Given the description of an element on the screen output the (x, y) to click on. 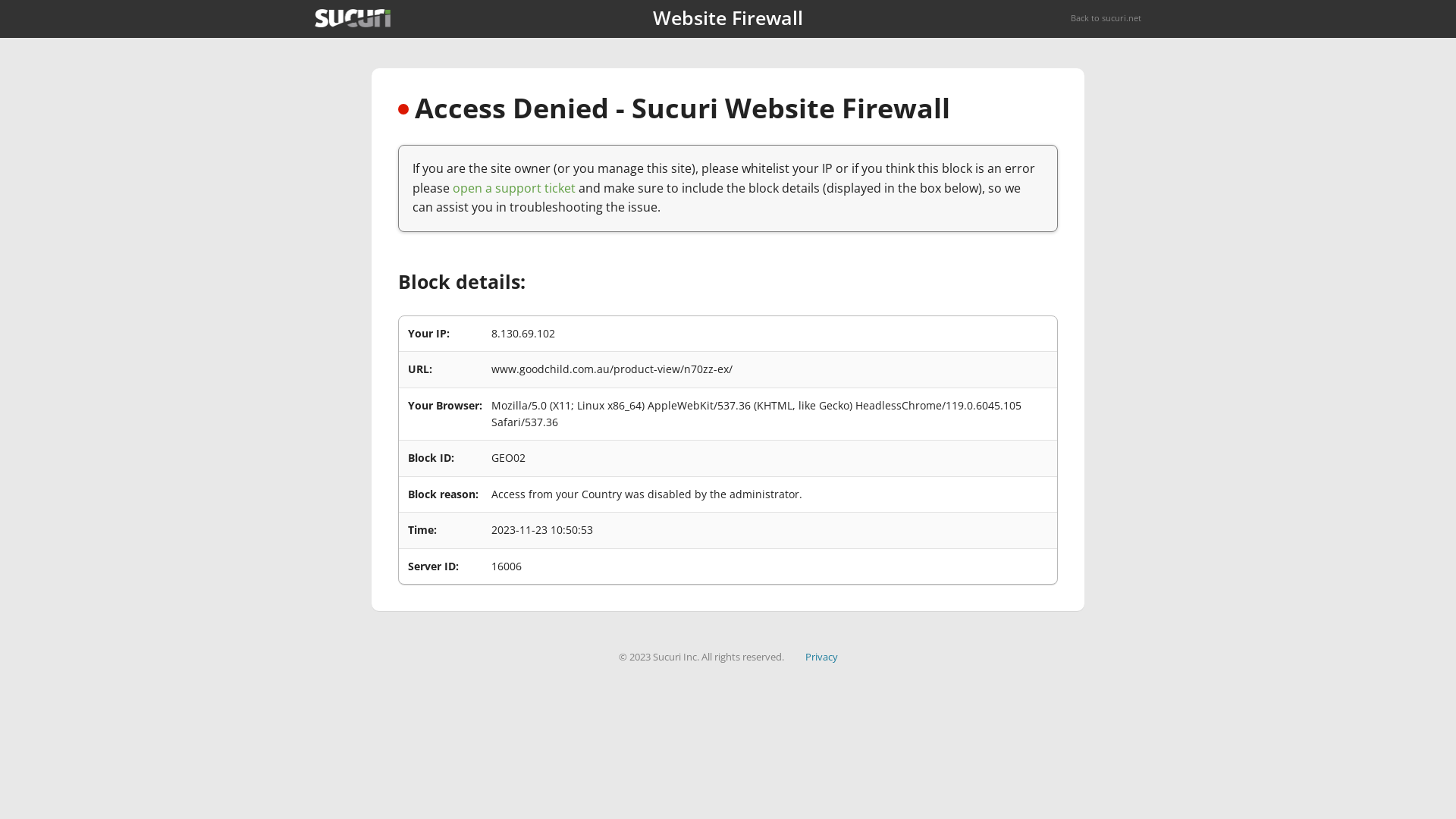
Privacy Element type: text (821, 656)
open a support ticket Element type: text (513, 187)
Back to sucuri.net Element type: text (1105, 18)
